Given the description of an element on the screen output the (x, y) to click on. 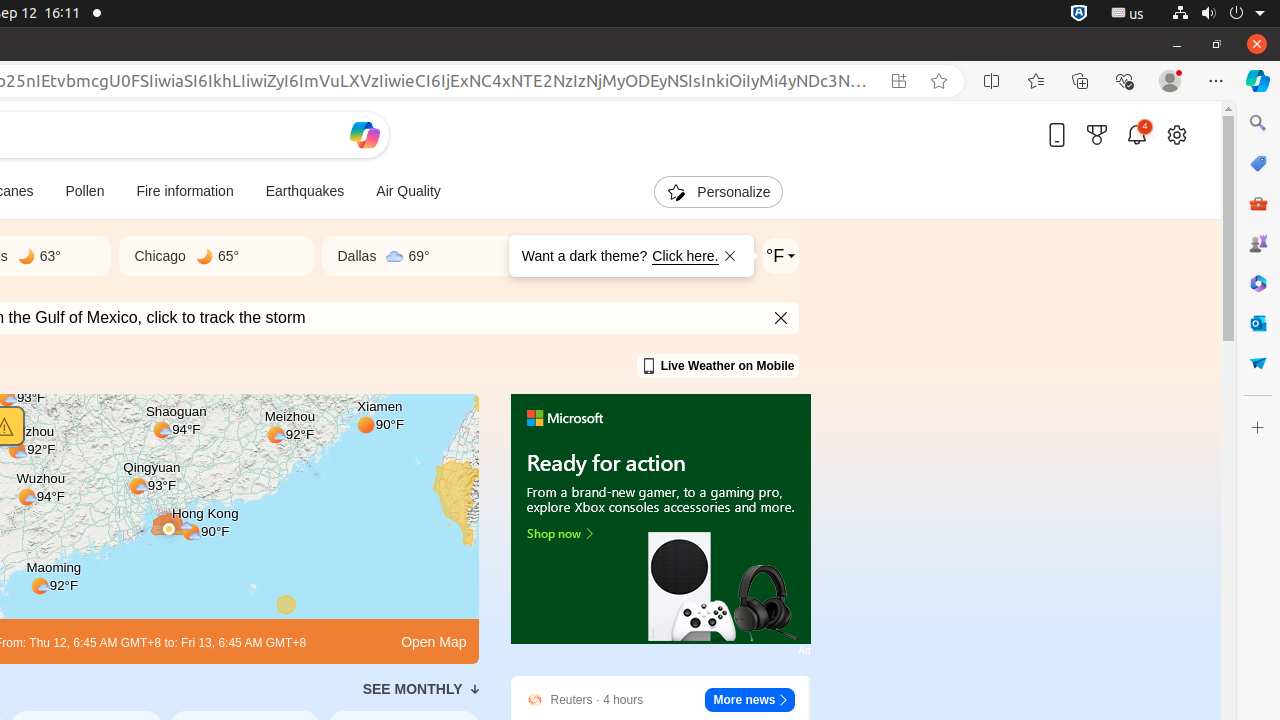
Tools Element type: push-button (1258, 202)
Air Quality Element type: link (408, 192)
Fire information Element type: link (185, 192)
Drop Element type: push-button (1258, 363)
Weather settings Want a dark theme?Click here. Element type: push-button (780, 256)
